Given the description of an element on the screen output the (x, y) to click on. 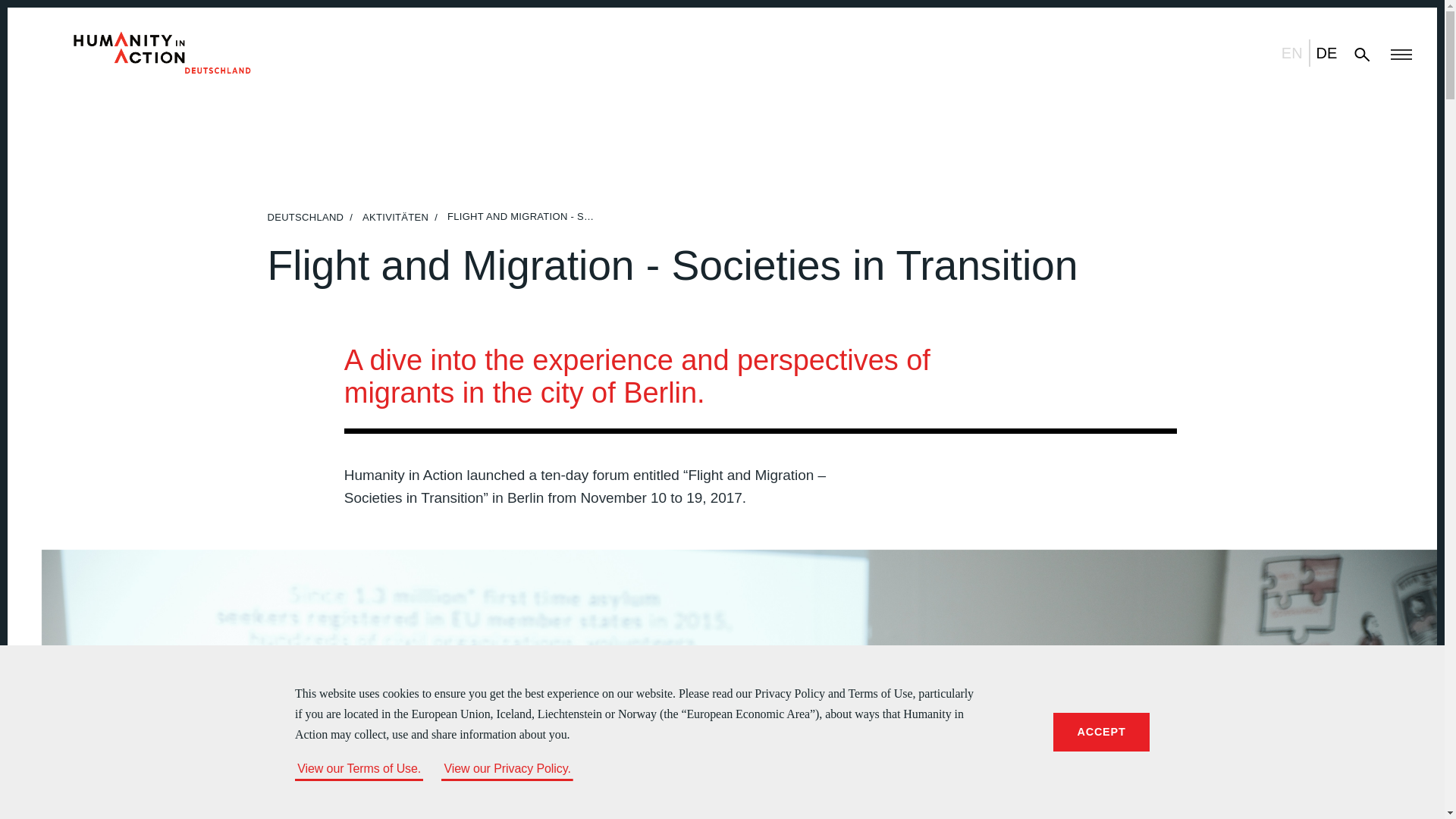
ACCEPT (1101, 731)
DE (1326, 52)
View our Terms of Use. (359, 768)
EN (1292, 52)
View our Privacy Policy. (507, 768)
